Given the description of an element on the screen output the (x, y) to click on. 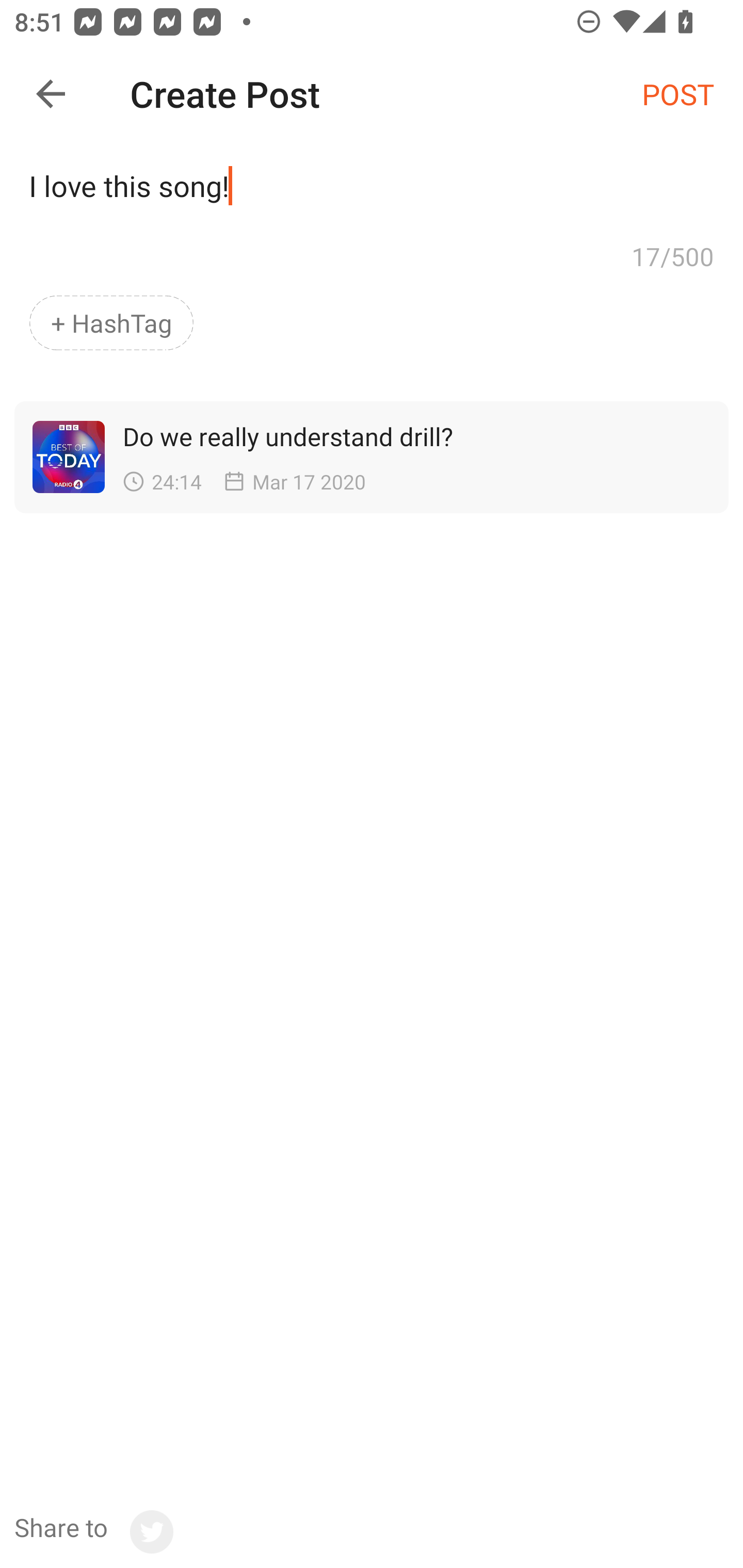
Navigate up (50, 93)
POST (677, 92)
I love this song! (371, 191)
+ HashTag (110, 322)
Share to (93, 1531)
